Given the description of an element on the screen output the (x, y) to click on. 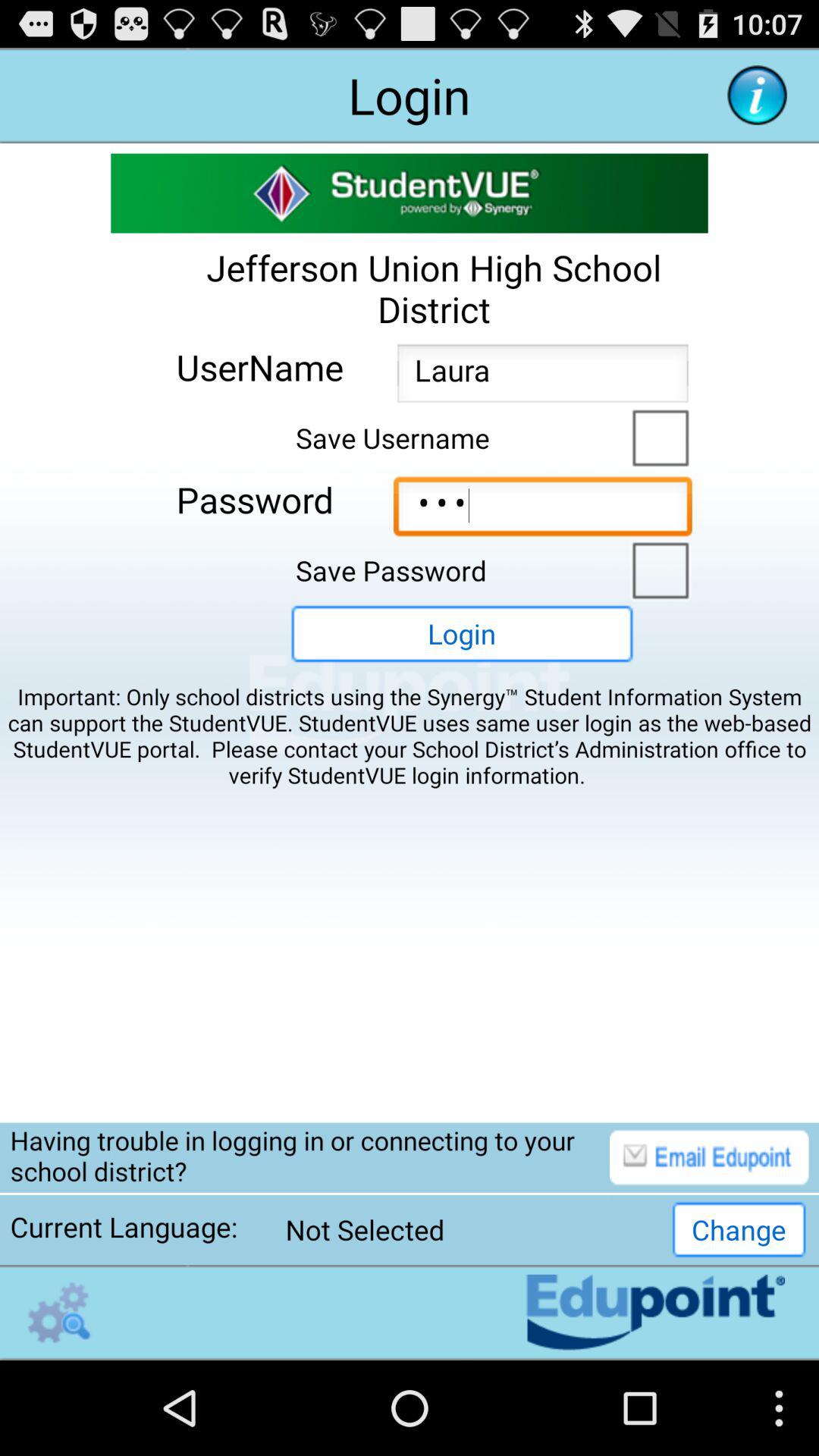
email option (708, 1157)
